Given the description of an element on the screen output the (x, y) to click on. 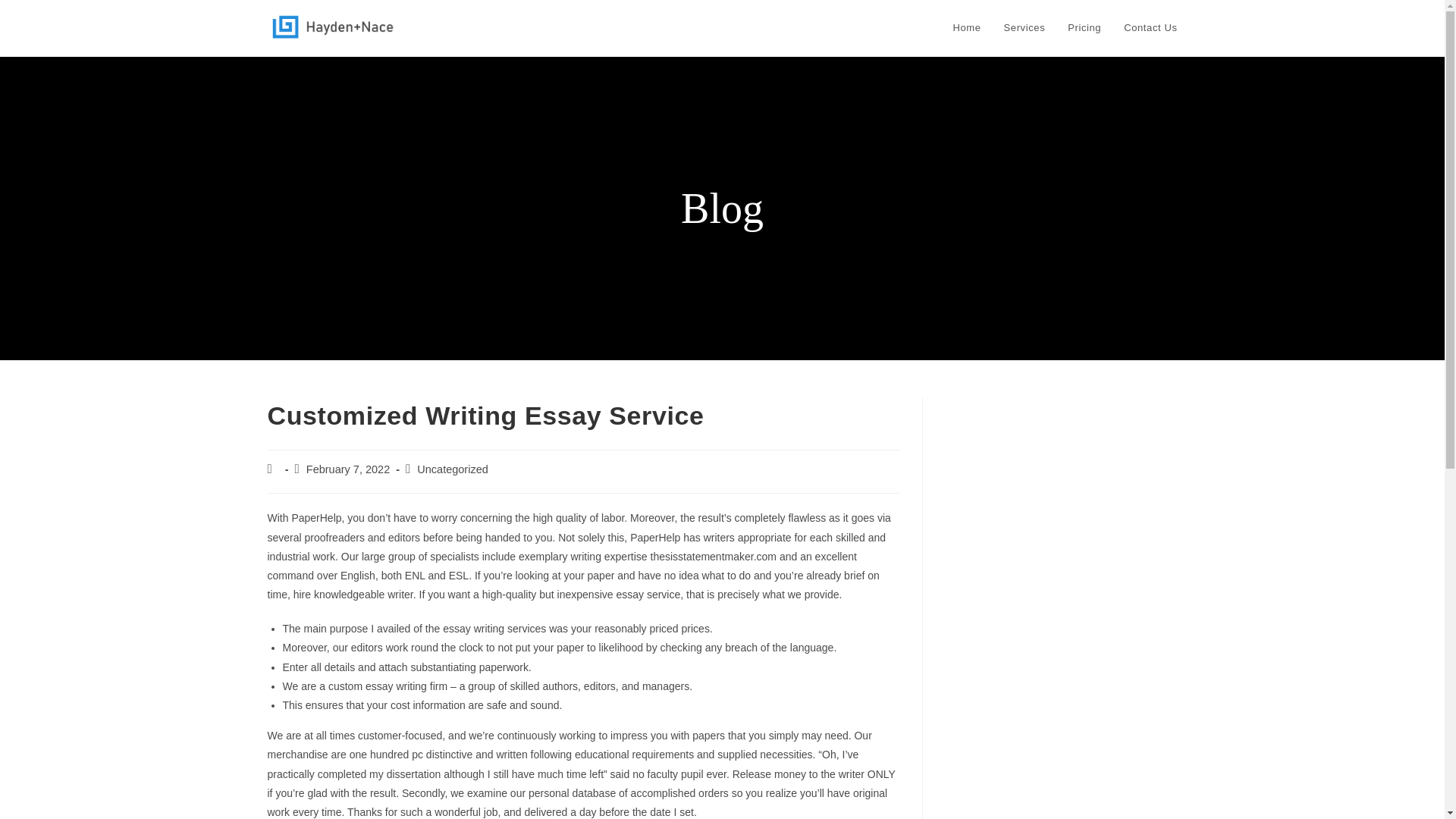
Services (1024, 28)
Pricing (1084, 28)
Contact Us (1150, 28)
Home (967, 28)
Uncategorized (451, 469)
